Given the description of an element on the screen output the (x, y) to click on. 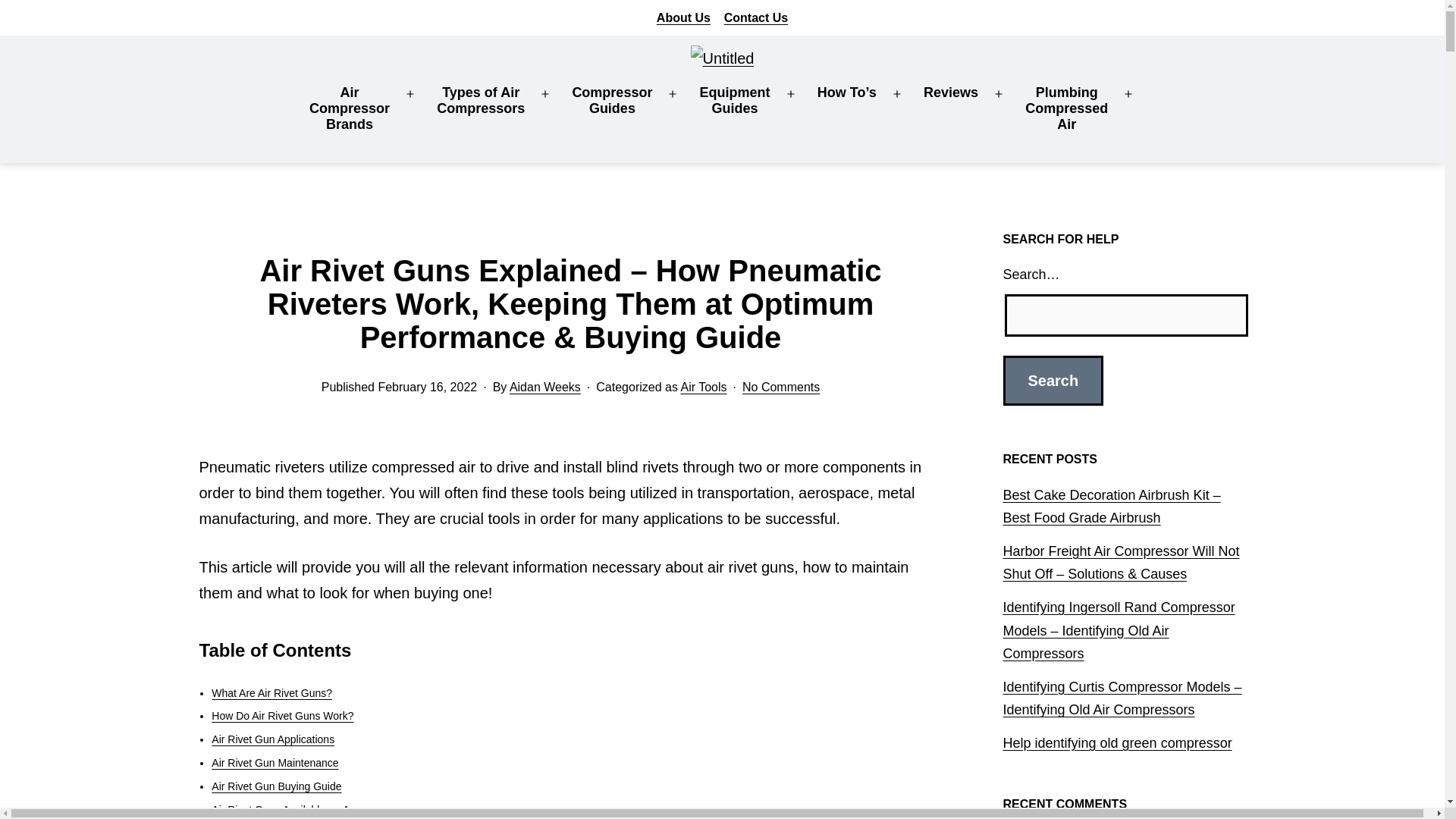
Contact Us (755, 18)
About Us (348, 108)
Search (683, 18)
Search (1053, 380)
